Given the description of an element on the screen output the (x, y) to click on. 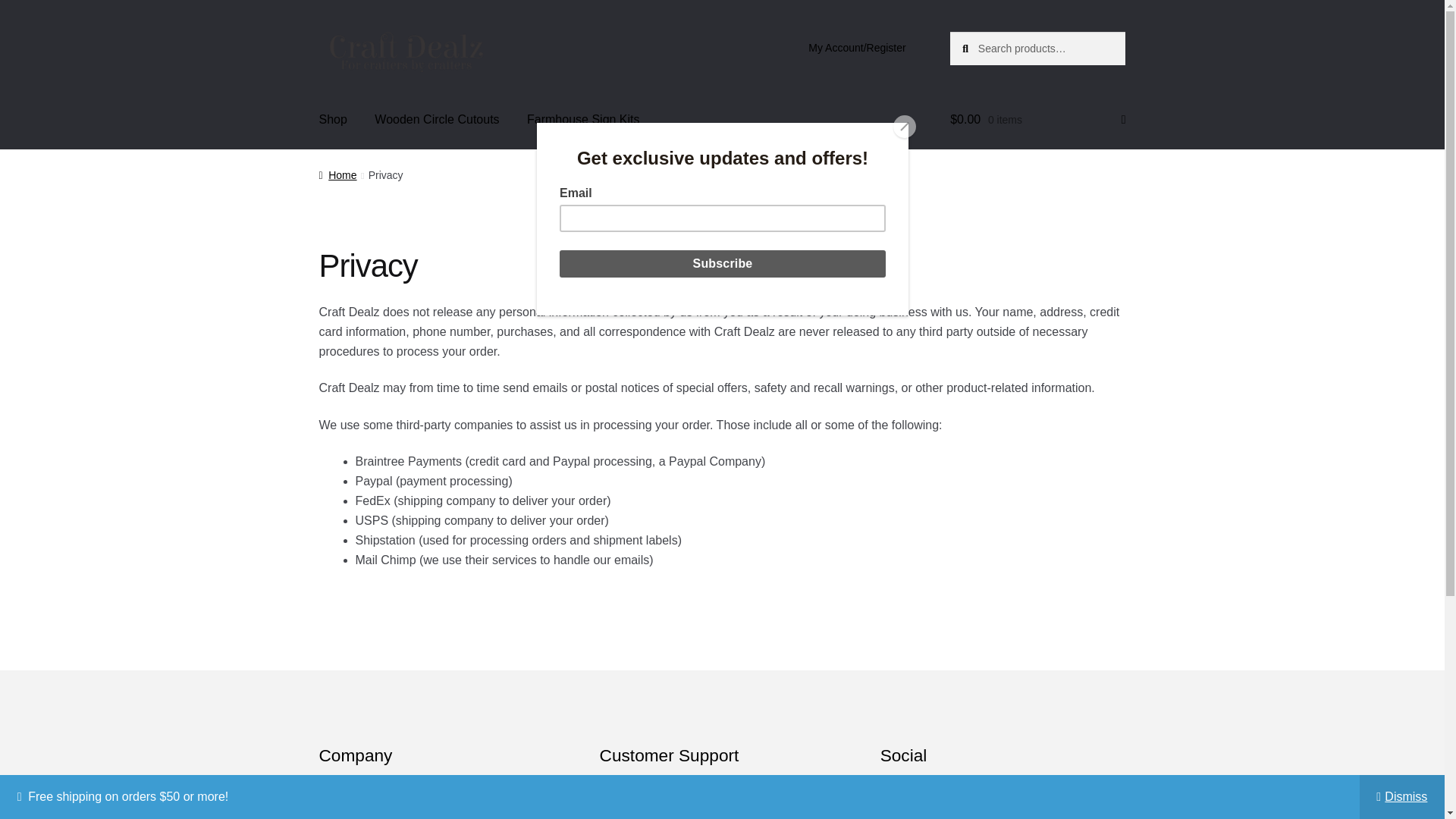
Home (337, 174)
View your shopping cart (1037, 119)
Wooden Circle Cutouts (436, 119)
Farmhouse Sign Kits (583, 119)
